Given the description of an element on the screen output the (x, y) to click on. 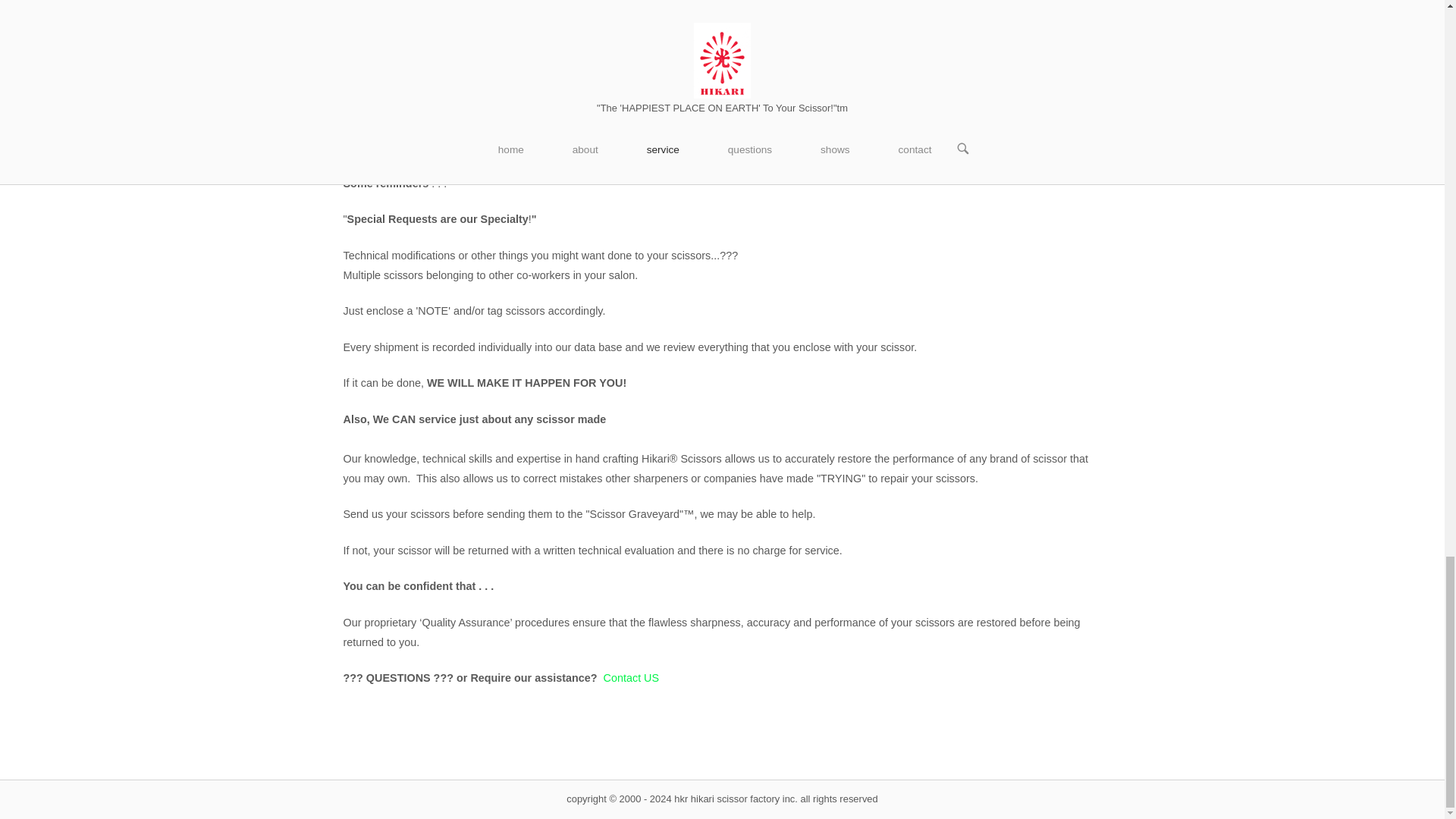
Contact US (631, 677)
